Given the description of an element on the screen output the (x, y) to click on. 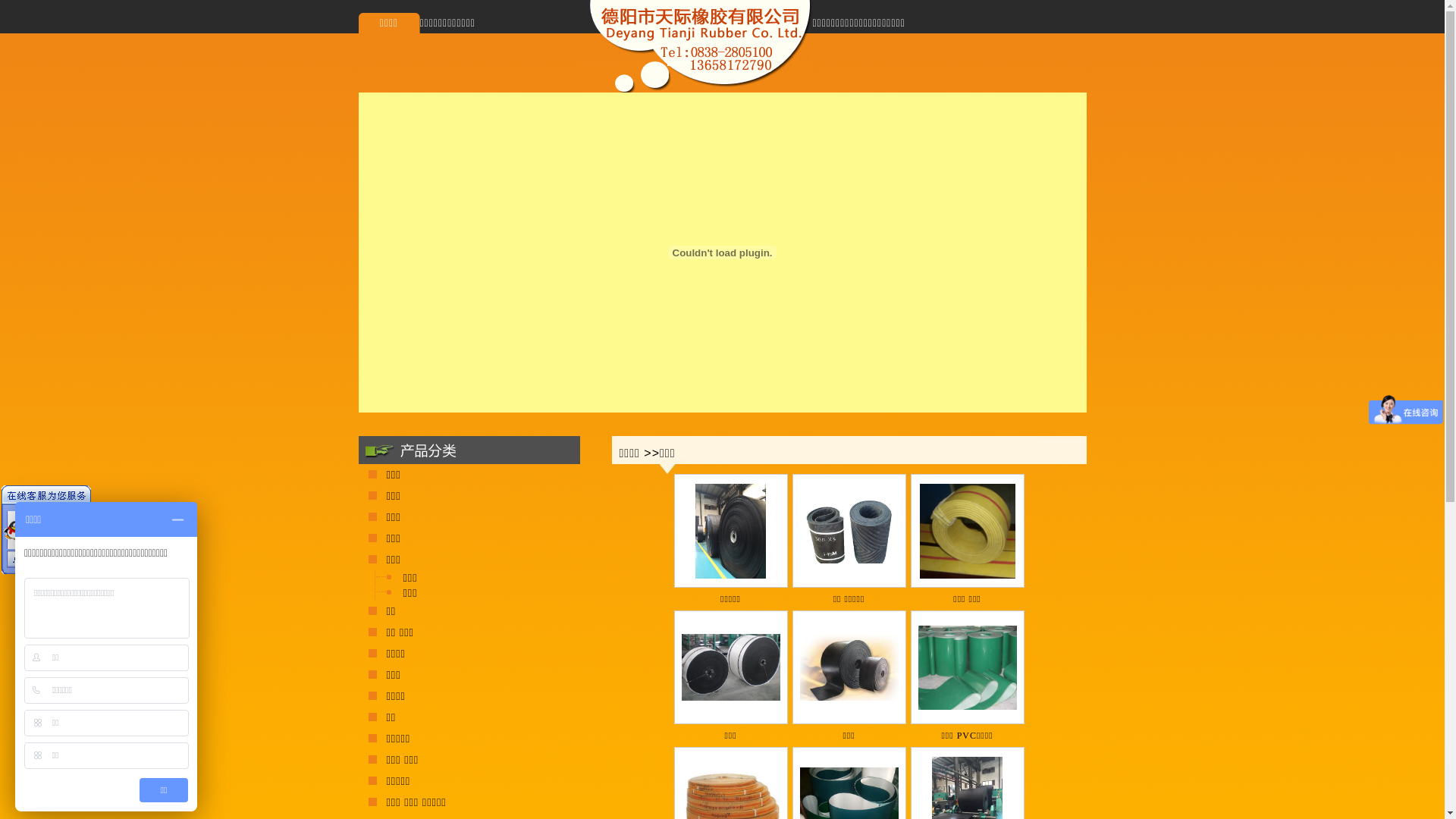
QQ 189613588 Element type: text (50, 529)
